Given the description of an element on the screen output the (x, y) to click on. 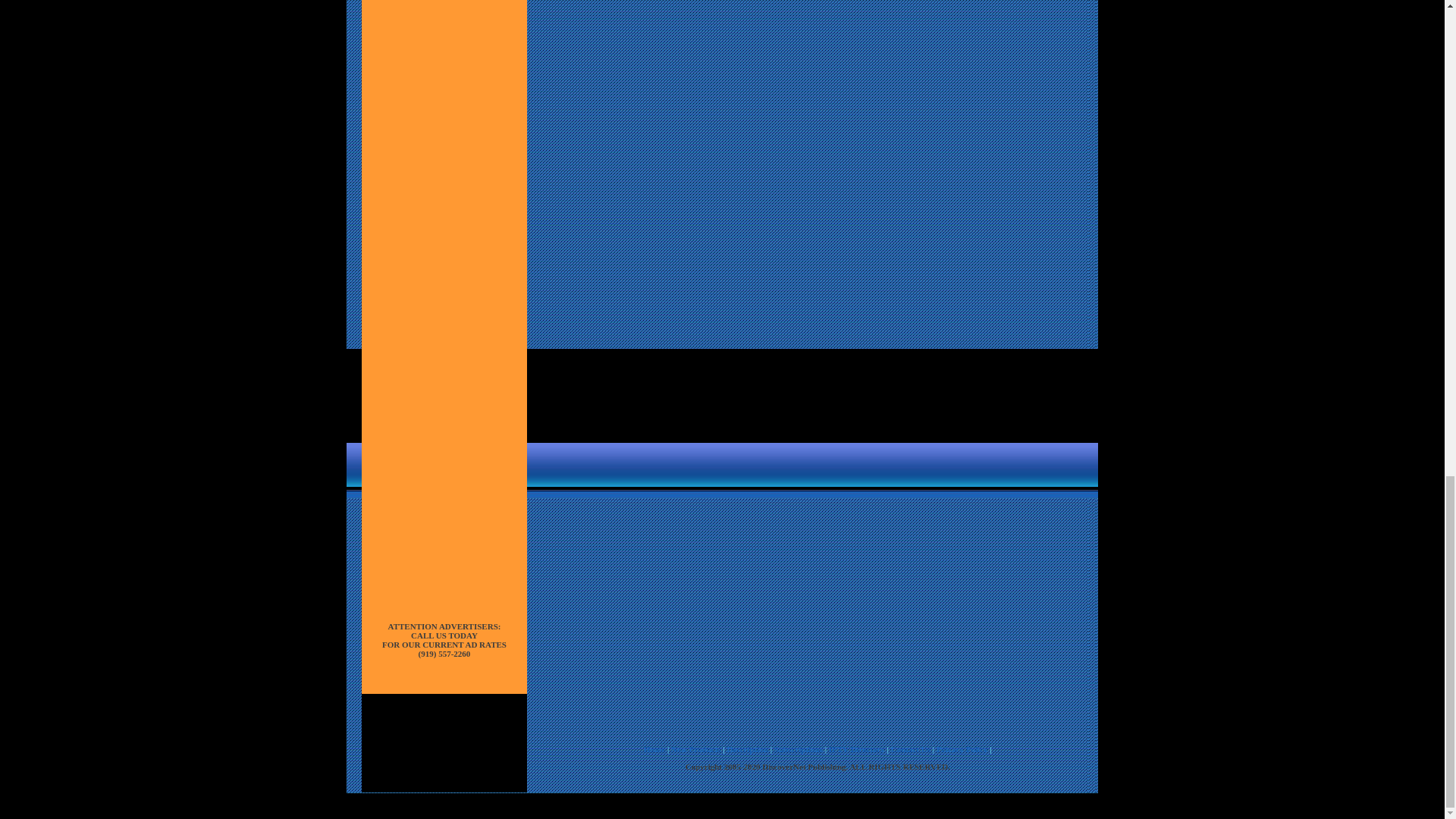
Home (654, 748)
Privacy Policy (962, 748)
IPTV Directory (856, 748)
New Products (695, 748)
Contact Us (910, 748)
Description (747, 748)
Subscriptions (798, 748)
